Given the description of an element on the screen output the (x, y) to click on. 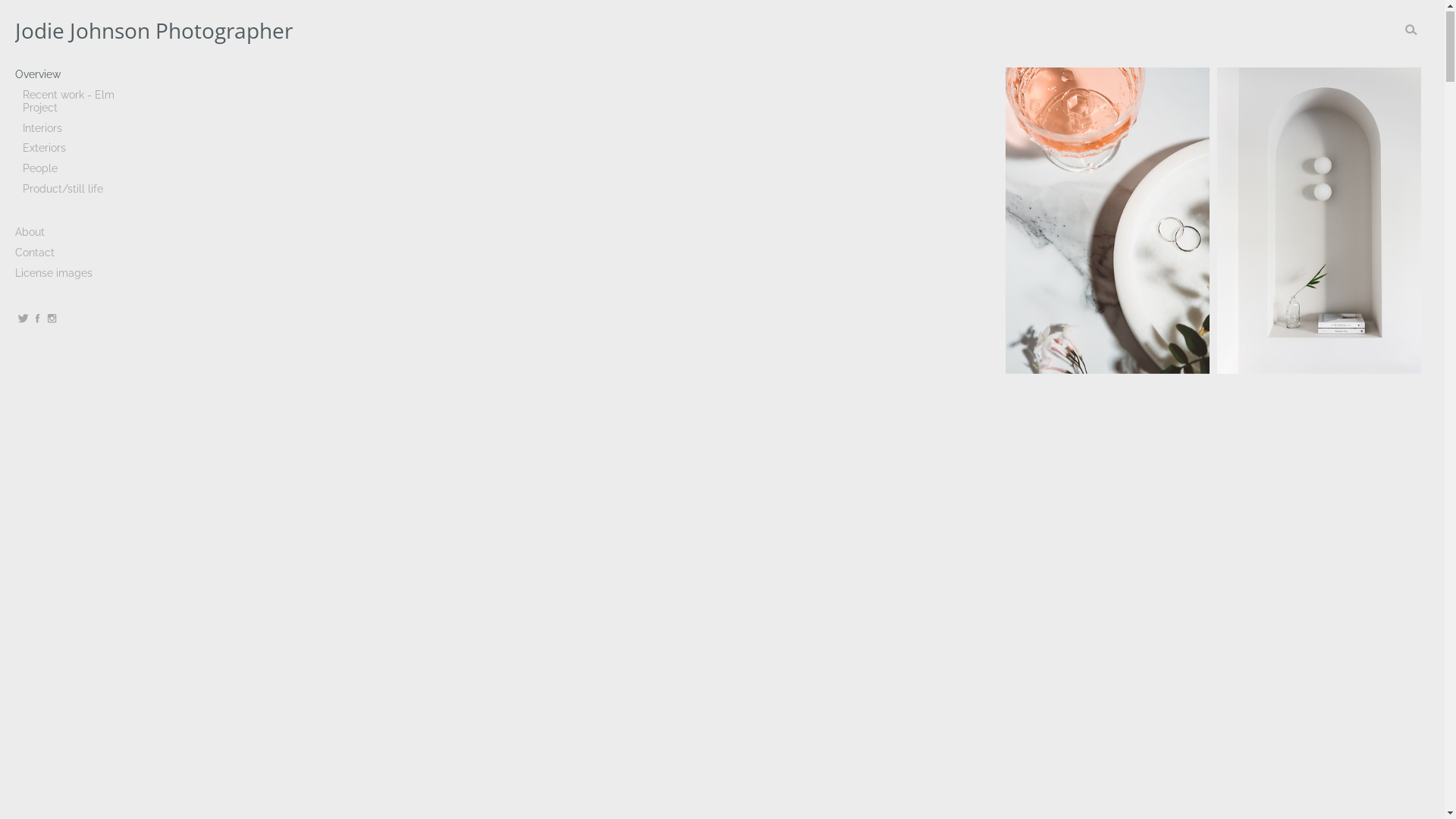
Product/still life Element type: text (79, 189)
Jodie Johnson Photographer Element type: text (419, 31)
Exteriors Element type: text (79, 148)
About Element type: text (75, 232)
All Element type: text (75, 75)
Recent work - Elm Project Element type: text (79, 102)
License images Element type: text (75, 273)
Contact Element type: text (75, 253)
People Element type: text (79, 169)
Interiors Element type: text (79, 128)
